Given the description of an element on the screen output the (x, y) to click on. 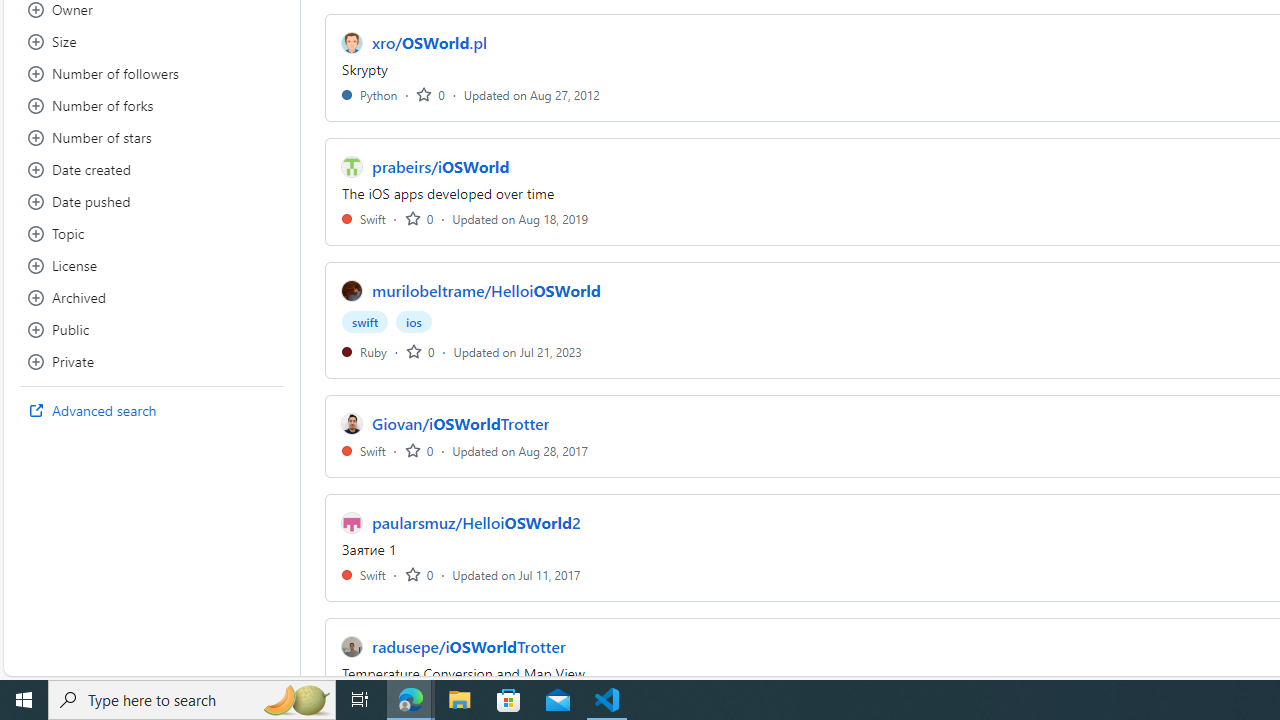
0 stars (418, 574)
xro/OSWorld.pl (429, 42)
Advanced search (152, 410)
swift (365, 321)
